Given the description of an element on the screen output the (x, y) to click on. 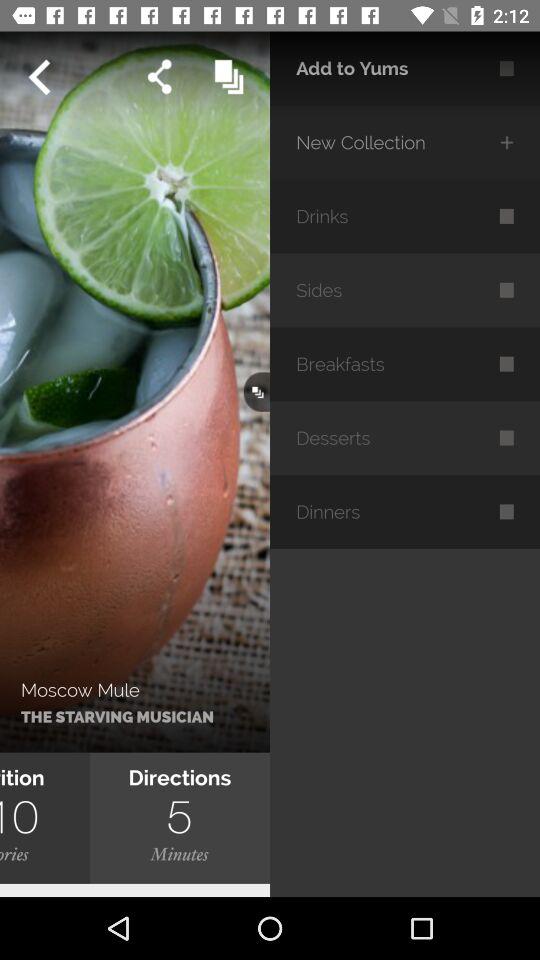
share (159, 76)
